Given the description of an element on the screen output the (x, y) to click on. 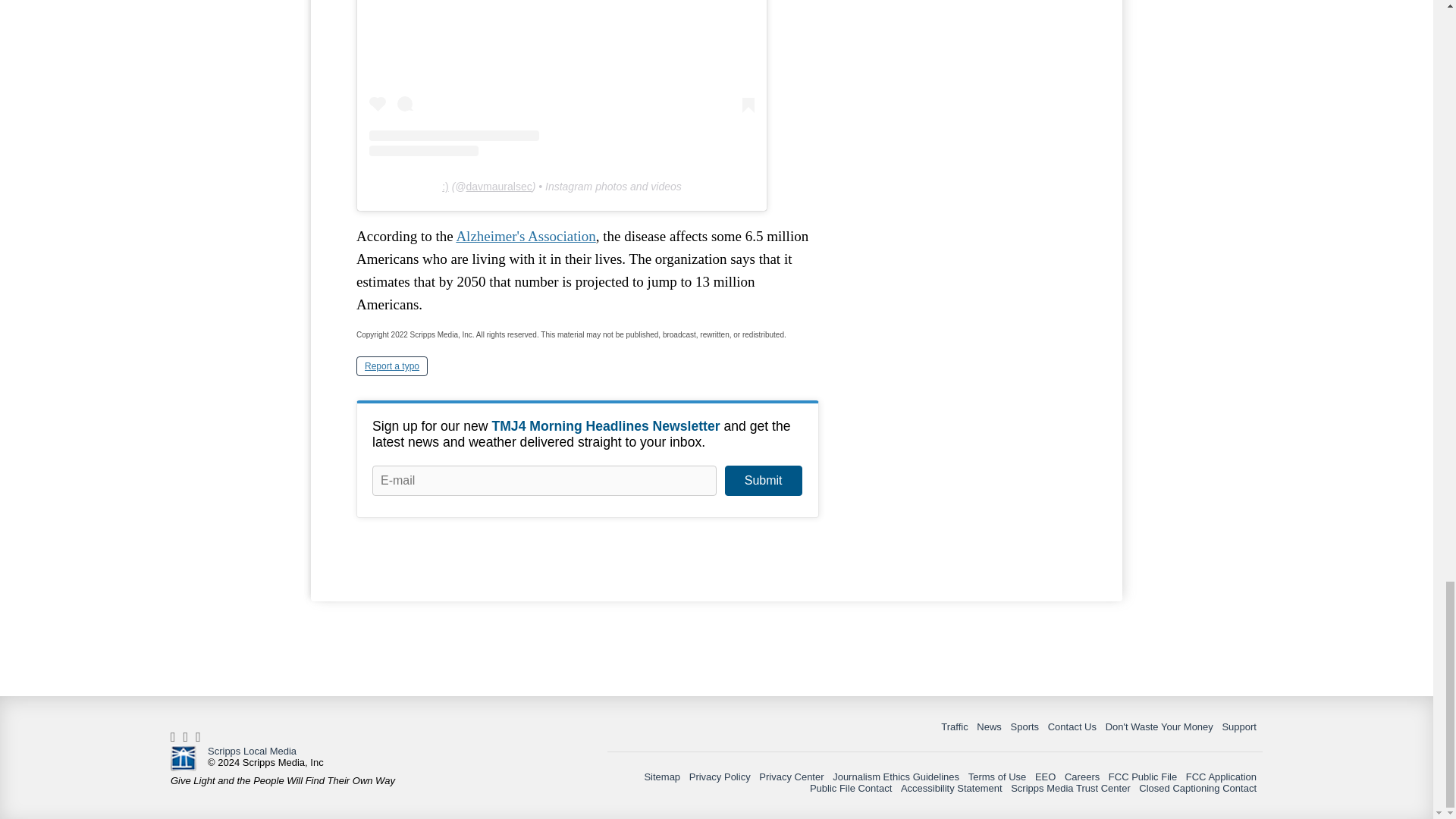
Submit (763, 481)
